Given the description of an element on the screen output the (x, y) to click on. 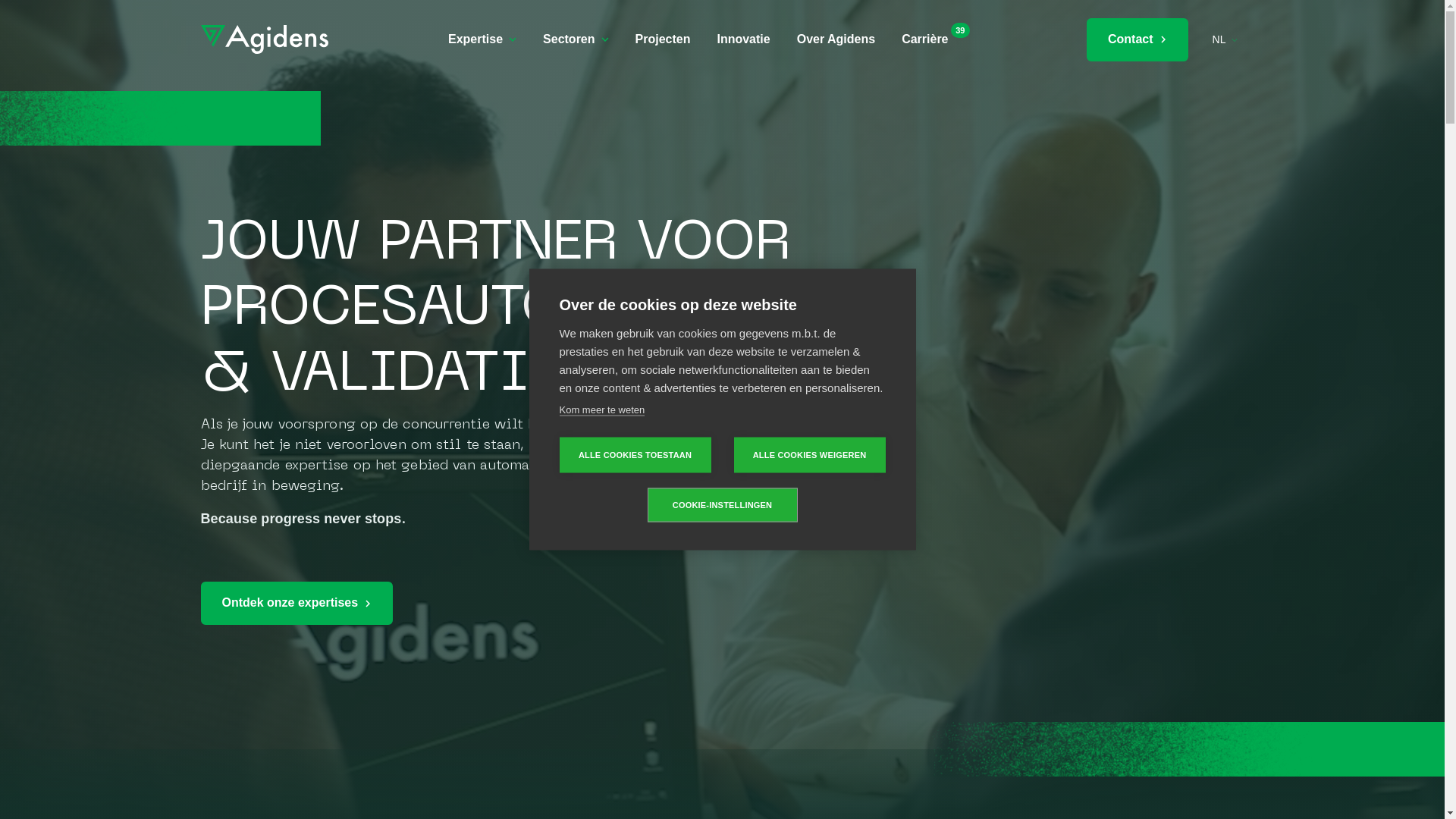
ALLE COOKIES TOESTAAN Element type: text (635, 454)
Agidens Element type: hover (263, 38)
Projecten Element type: text (662, 39)
Ontdek onze expertises Element type: text (296, 602)
ALLE COOKIES WEIGEREN Element type: text (809, 454)
Kom meer te weten Element type: text (602, 409)
Innovatie Element type: text (742, 39)
COOKIE-INSTELLINGEN Element type: text (722, 505)
Over Agidens Element type: text (836, 39)
Expertise Element type: text (482, 39)
Sectoren Element type: text (575, 39)
Contact Element type: text (1137, 39)
